Given the description of an element on the screen output the (x, y) to click on. 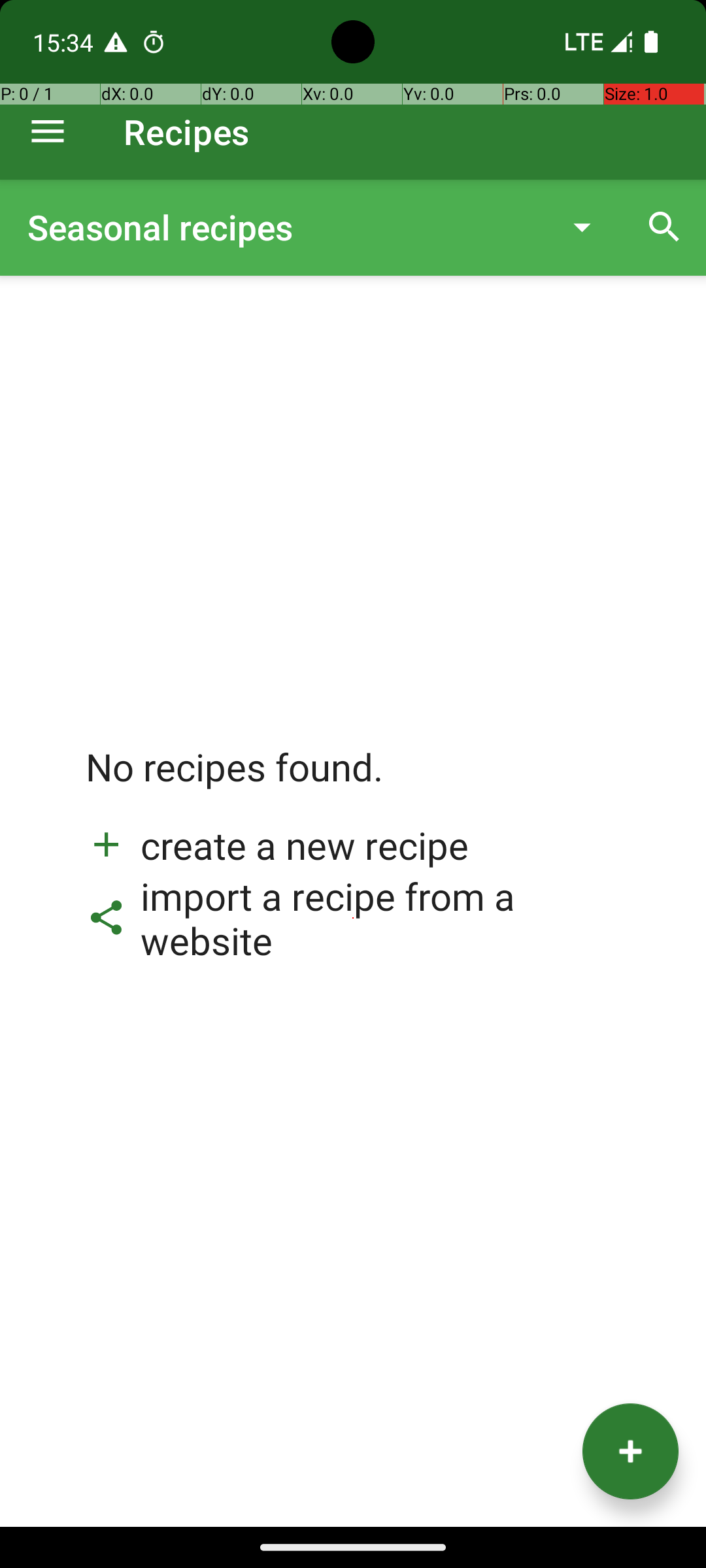
No recipes found. Element type: android.widget.TextView (234, 779)
create a new recipe Element type: android.widget.TextView (276, 844)
import a recipe from a website Element type: android.widget.TextView (352, 917)
Seasonal recipes Element type: android.widget.TextView (283, 226)
